Given the description of an element on the screen output the (x, y) to click on. 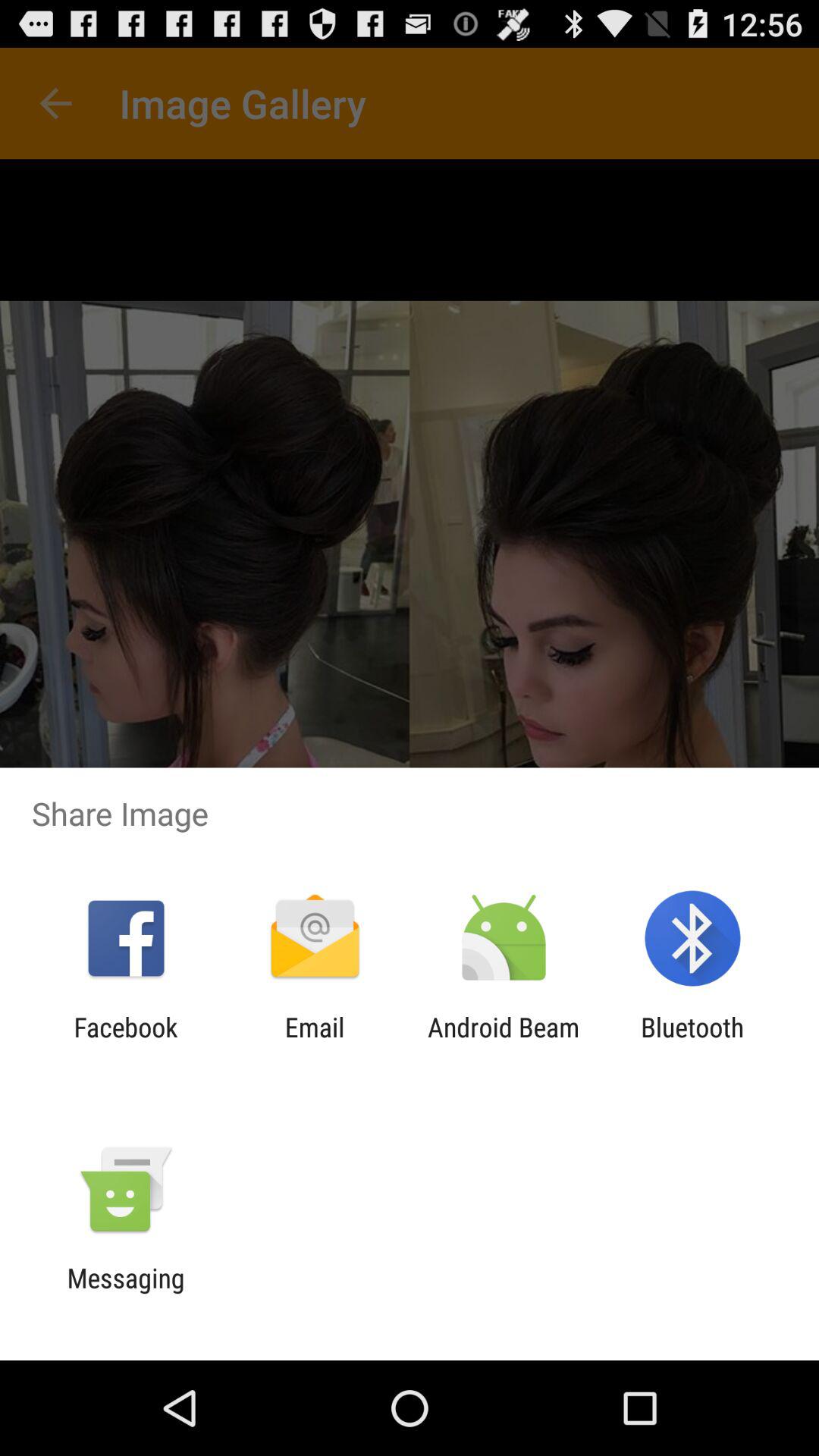
click the icon to the left of the bluetooth (503, 1042)
